Given the description of an element on the screen output the (x, y) to click on. 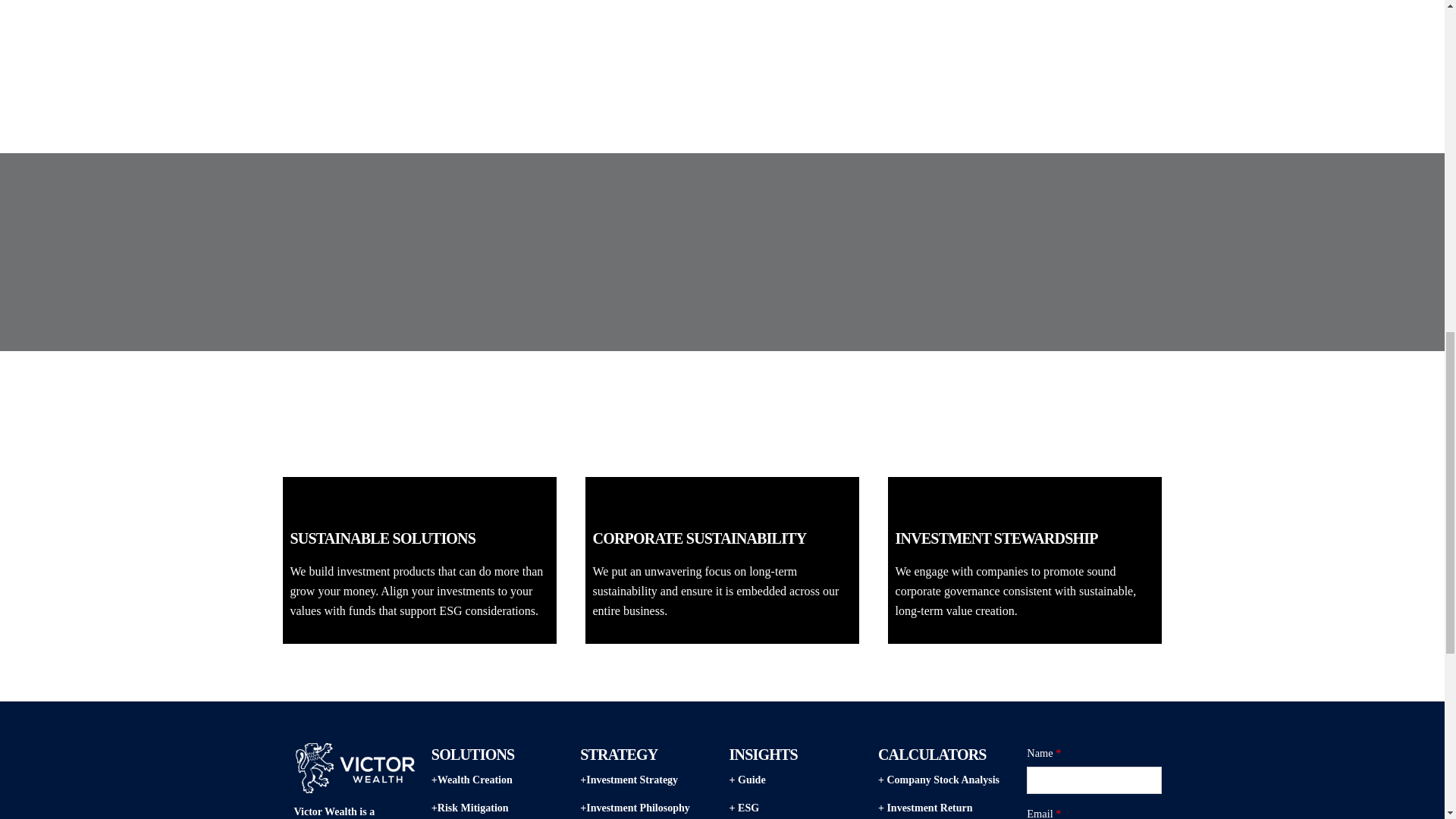
Victor Wealth-wl (355, 767)
